Given the description of an element on the screen output the (x, y) to click on. 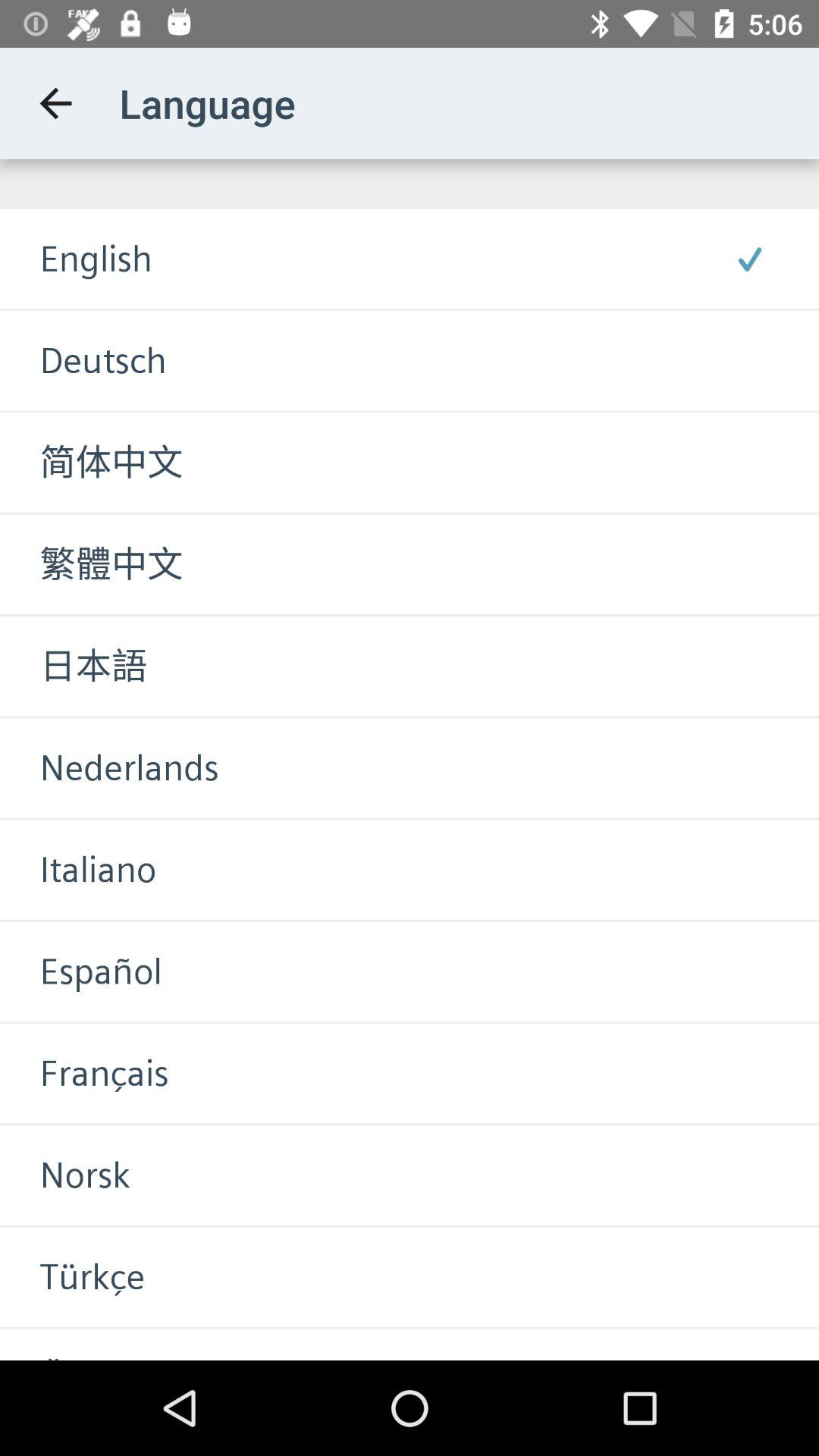
swipe to english icon (76, 258)
